Given the description of an element on the screen output the (x, y) to click on. 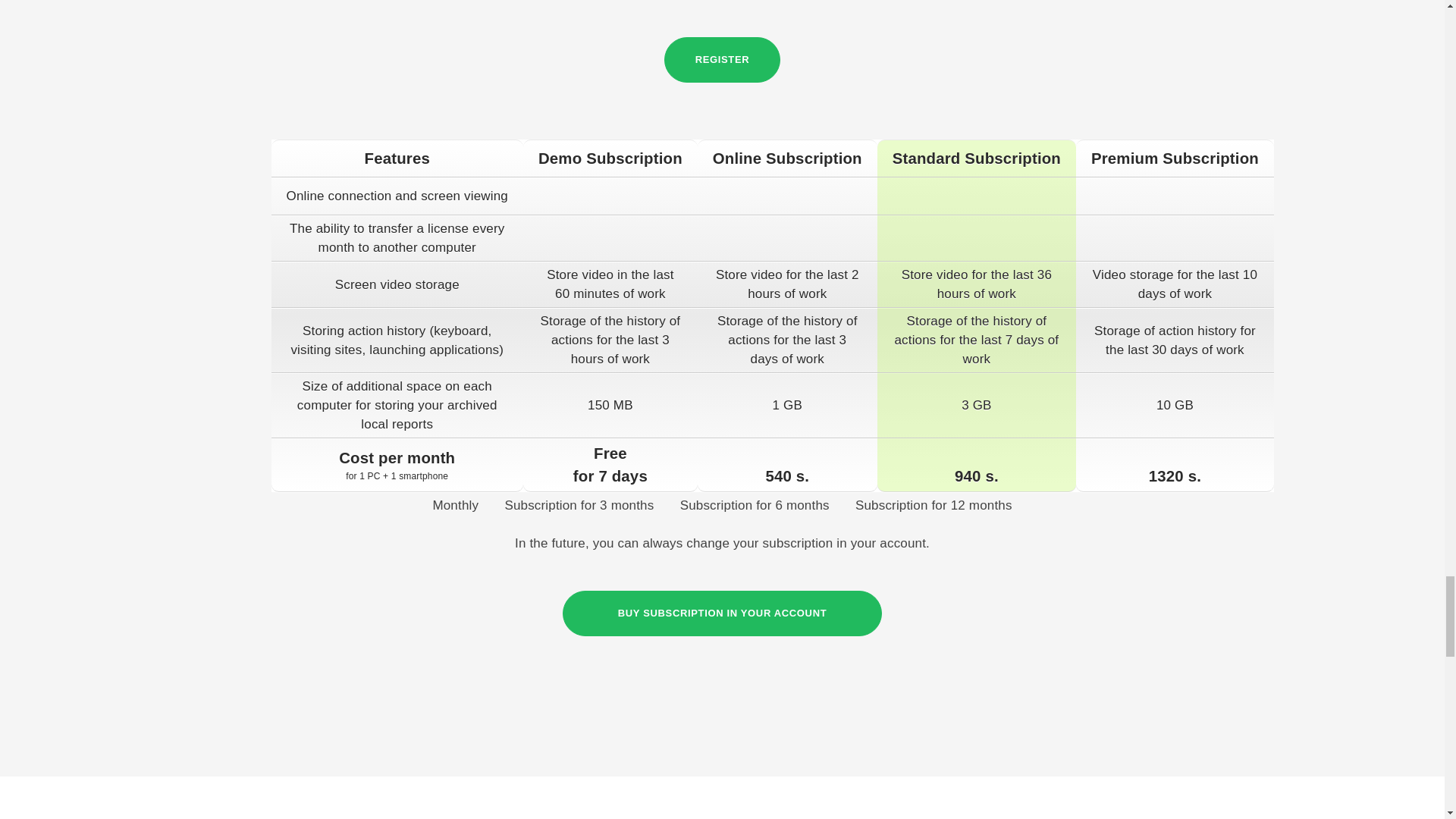
Subscription for 3 months (578, 504)
Subscription for 12 months (933, 504)
Subscription for 6 months (754, 504)
Monthly (455, 504)
BUY SUBSCRIPTION IN YOUR ACCOUNT (722, 613)
REGISTER (721, 59)
